Given the description of an element on the screen output the (x, y) to click on. 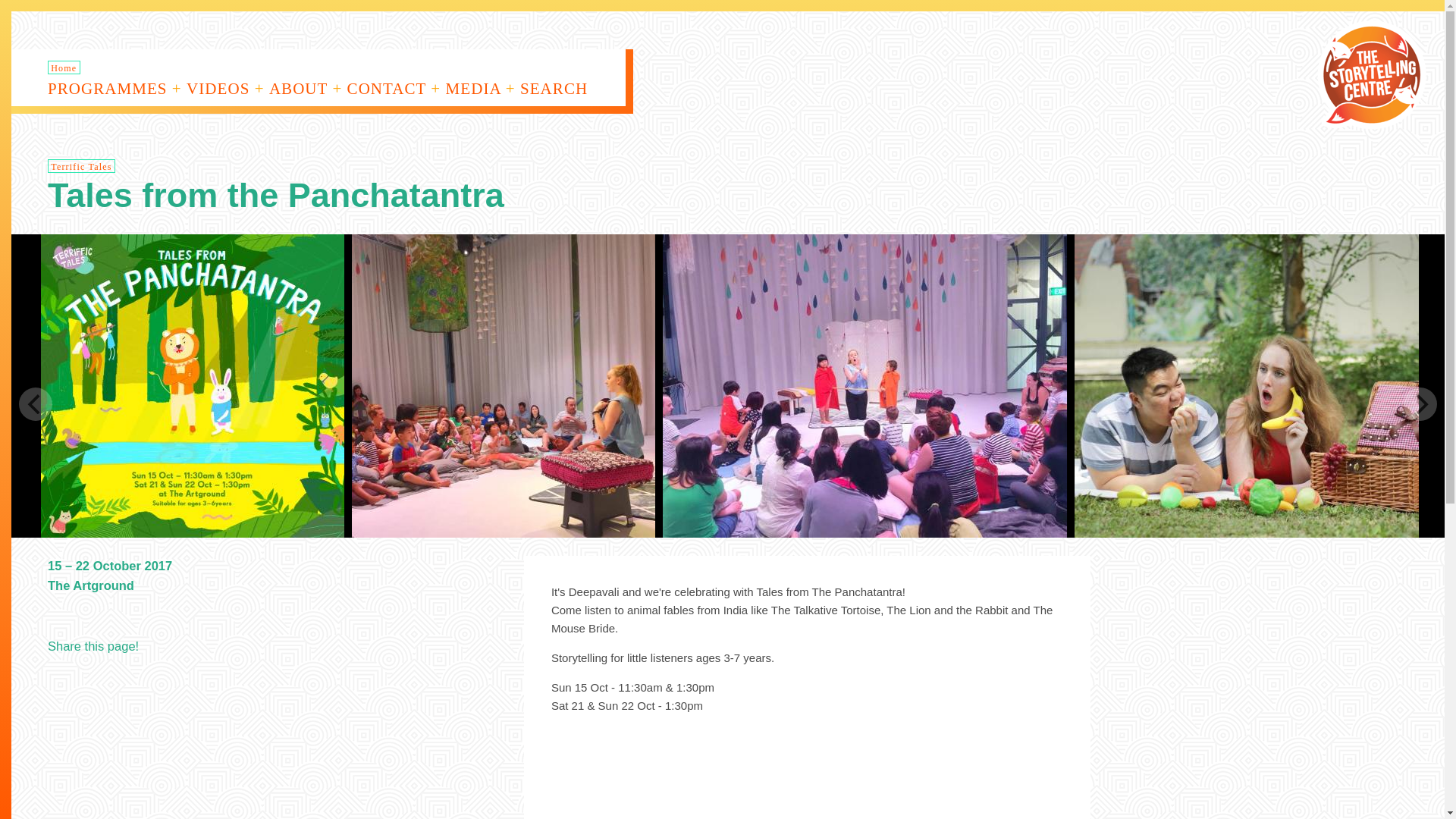
MEDIA (480, 89)
Terrific Tales (81, 165)
Home (64, 67)
SEARCH (563, 89)
VIDEOS (225, 89)
CONTACT (394, 89)
PROGRAMMES (115, 89)
ABOUT (305, 89)
